Given the description of an element on the screen output the (x, y) to click on. 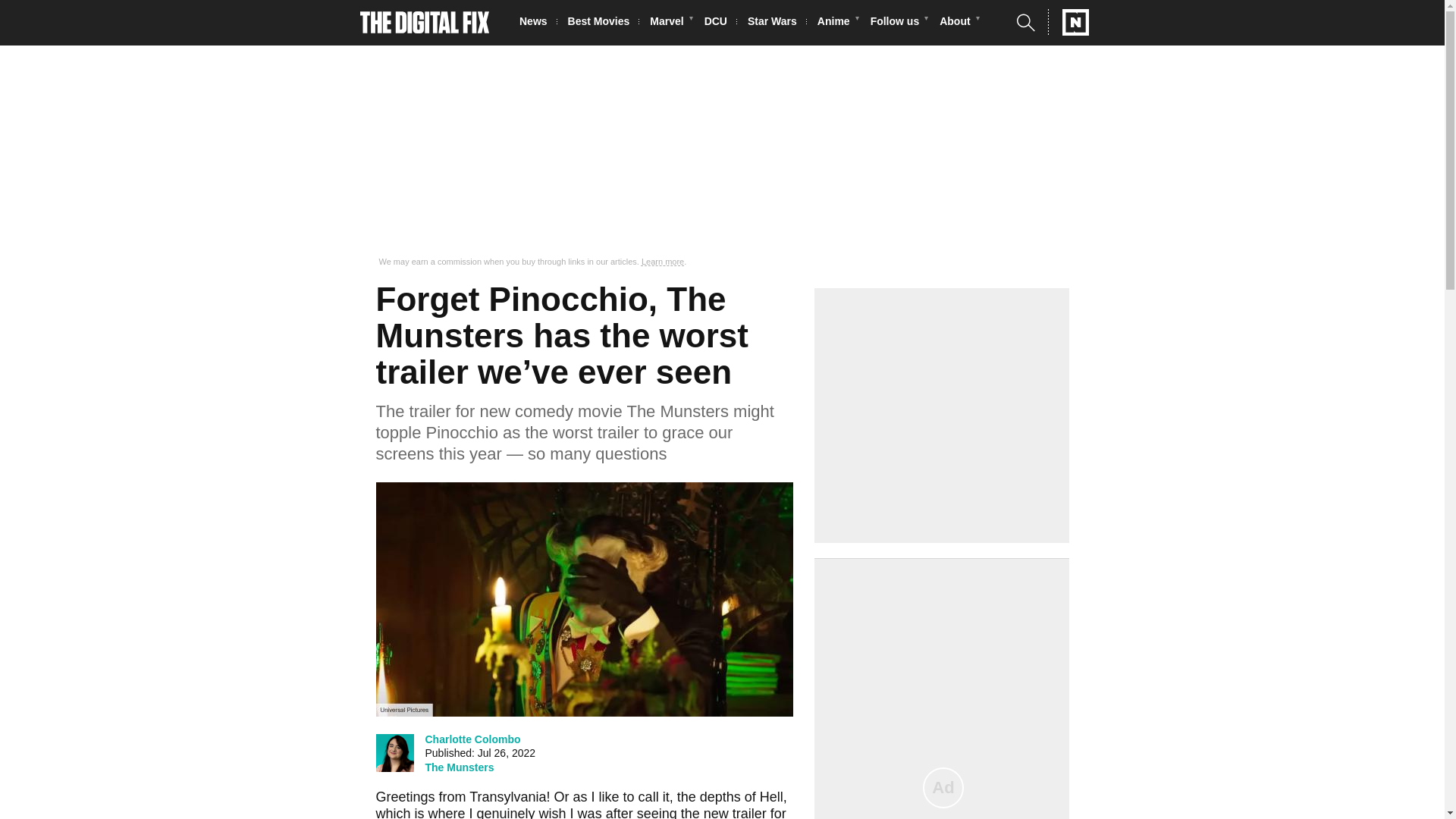
Marvel Cinematic Universe News (671, 22)
Anime (837, 22)
Star Wars News (777, 22)
Learn more (663, 261)
The Digital Fix (424, 22)
Anime News (837, 22)
The Munsters (459, 767)
Charlotte Colombo (472, 739)
Star Wars (777, 22)
Best Movies (603, 22)
Marvel (671, 22)
Network N Media (1068, 22)
Follow us (899, 22)
